Given the description of an element on the screen output the (x, y) to click on. 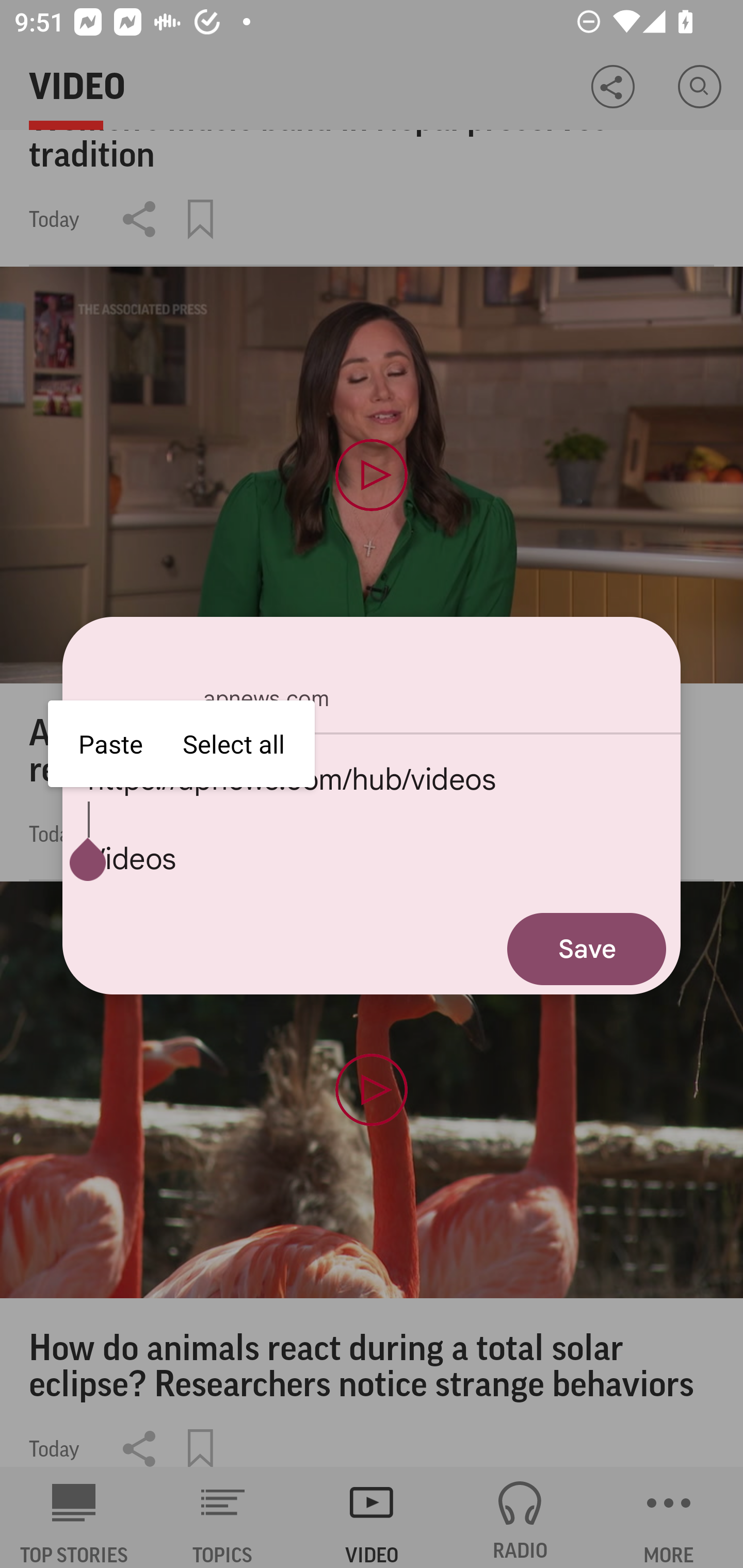
https://apnews.com/hub/videos 

Videos (371, 819)
Save (586, 949)
